Given the description of an element on the screen output the (x, y) to click on. 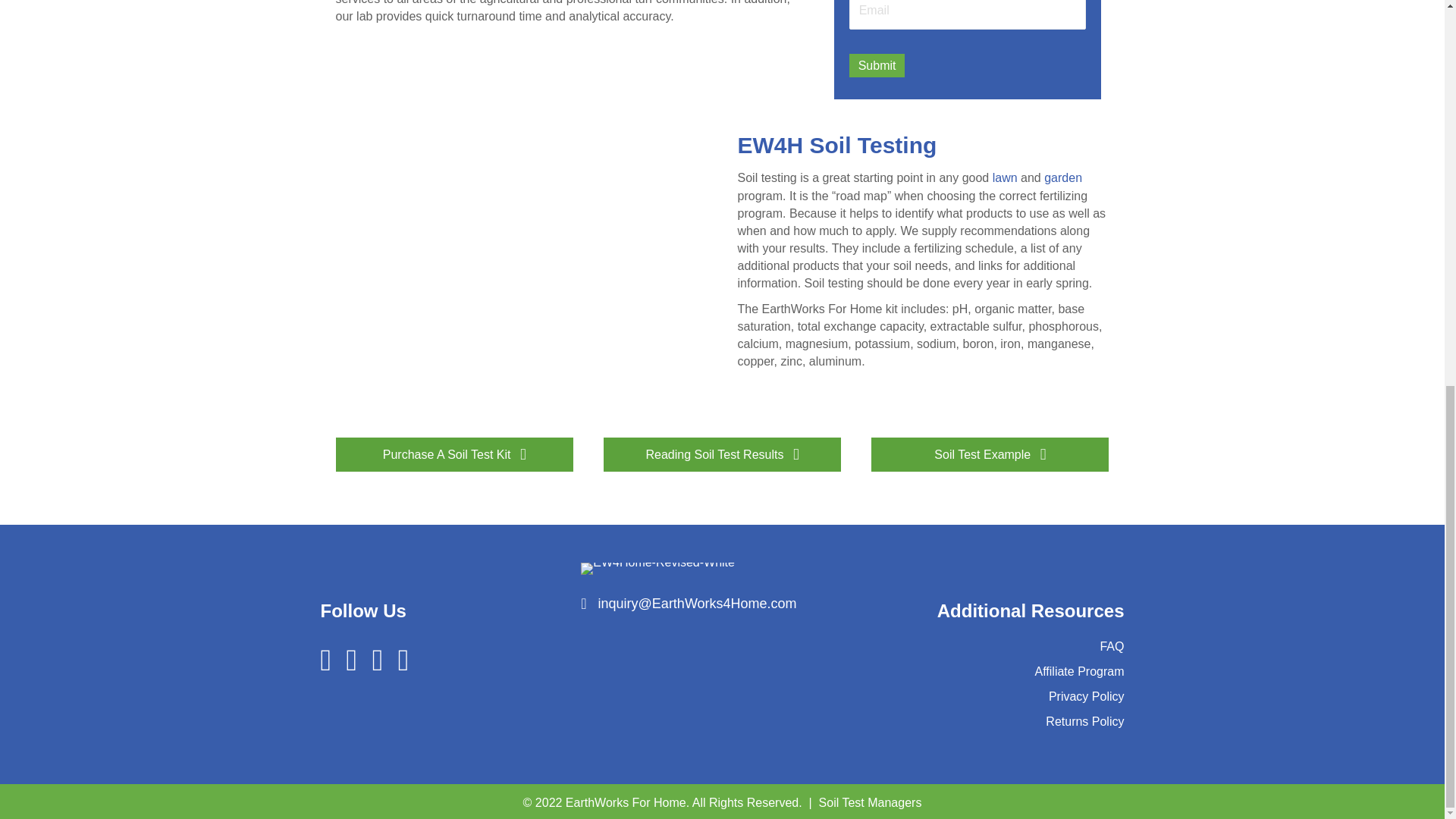
Submit (876, 65)
EW4Home-Revised-White (657, 568)
YouTube video player (520, 275)
Submit (876, 65)
